Given the description of an element on the screen output the (x, y) to click on. 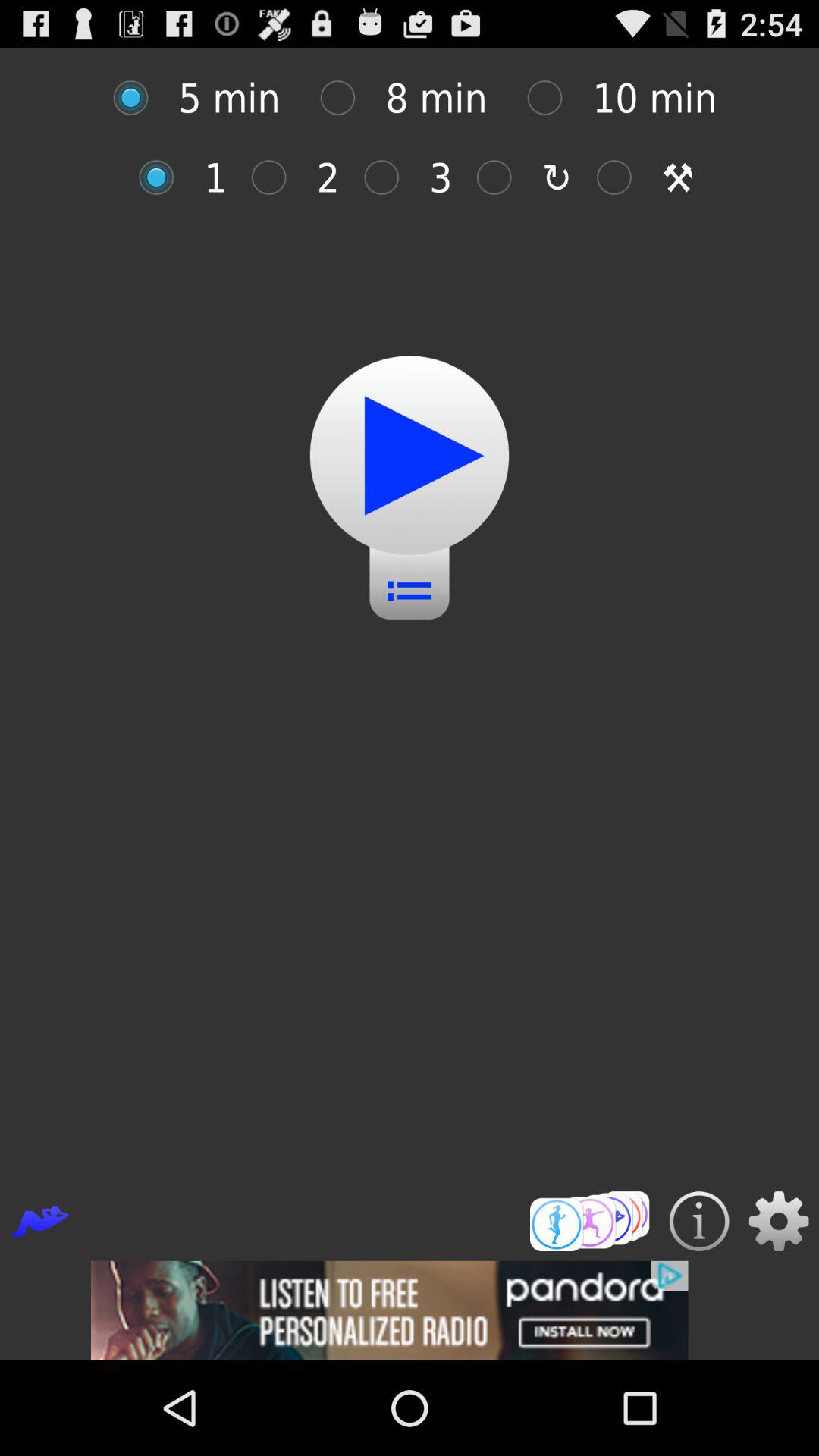
go to settings (778, 1221)
